Given the description of an element on the screen output the (x, y) to click on. 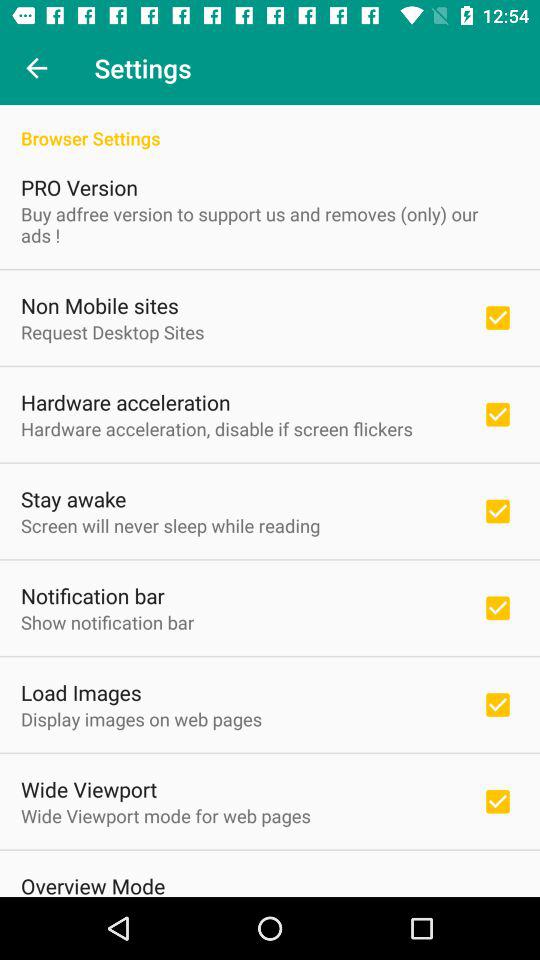
jump to display images on item (141, 718)
